Given the description of an element on the screen output the (x, y) to click on. 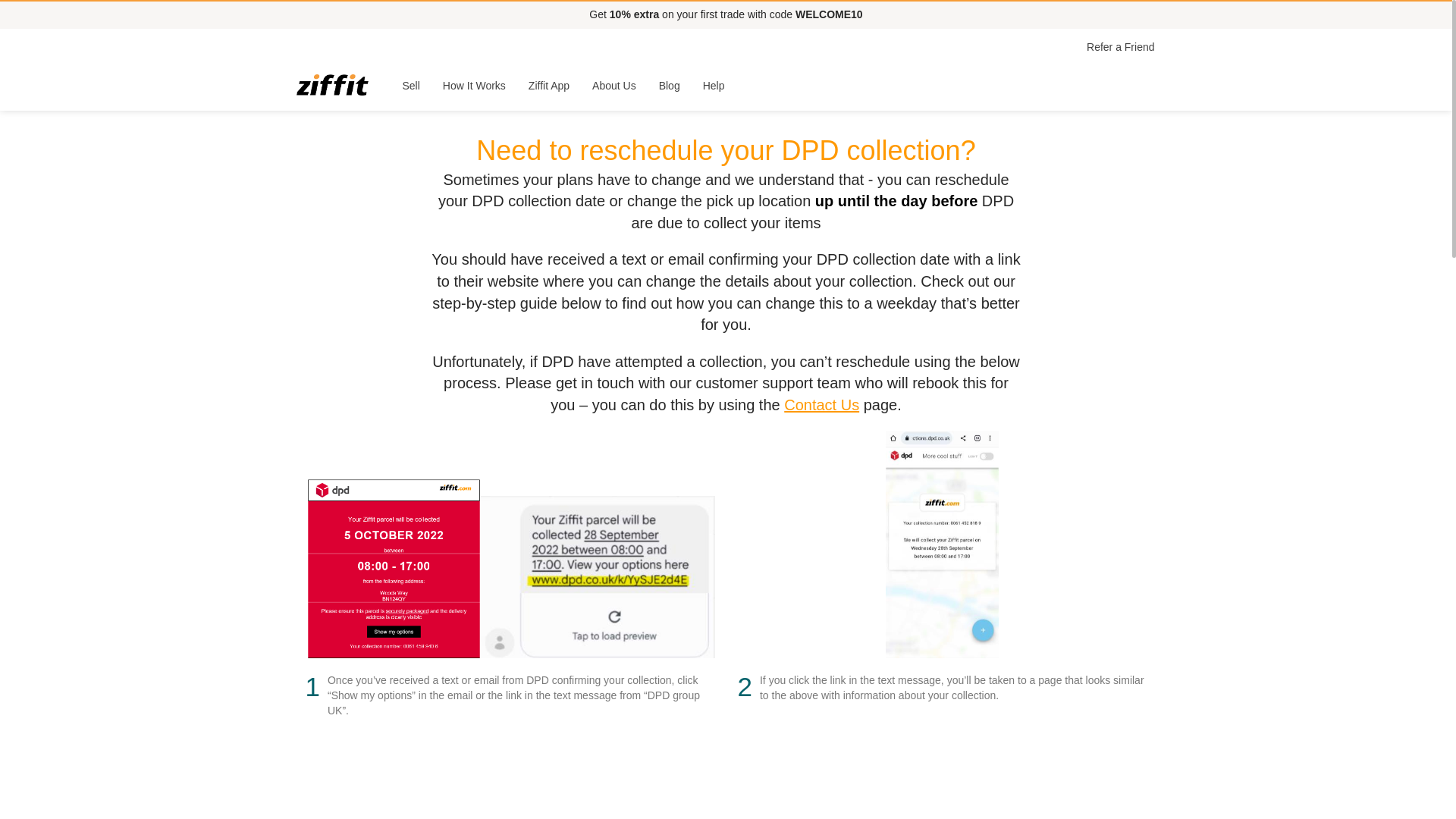
About Us (613, 85)
Ziffit App (548, 85)
How It Works (473, 85)
Blog (669, 85)
Contact Us (821, 404)
Refer a Friend (1120, 46)
Help (713, 85)
